Given the description of an element on the screen output the (x, y) to click on. 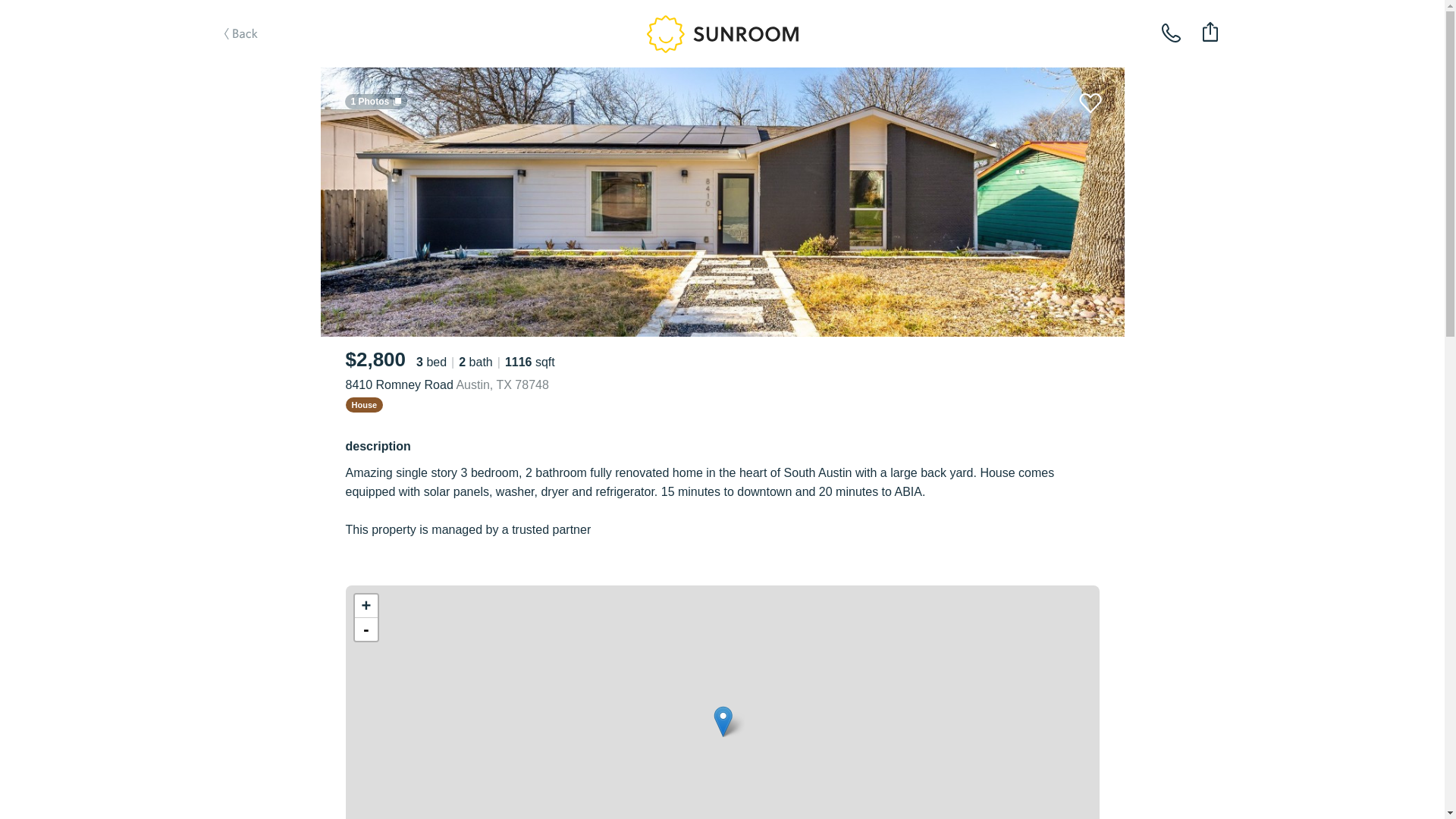
Zoom out (366, 629)
Zoom in (366, 606)
Back (260, 57)
